Given the description of an element on the screen output the (x, y) to click on. 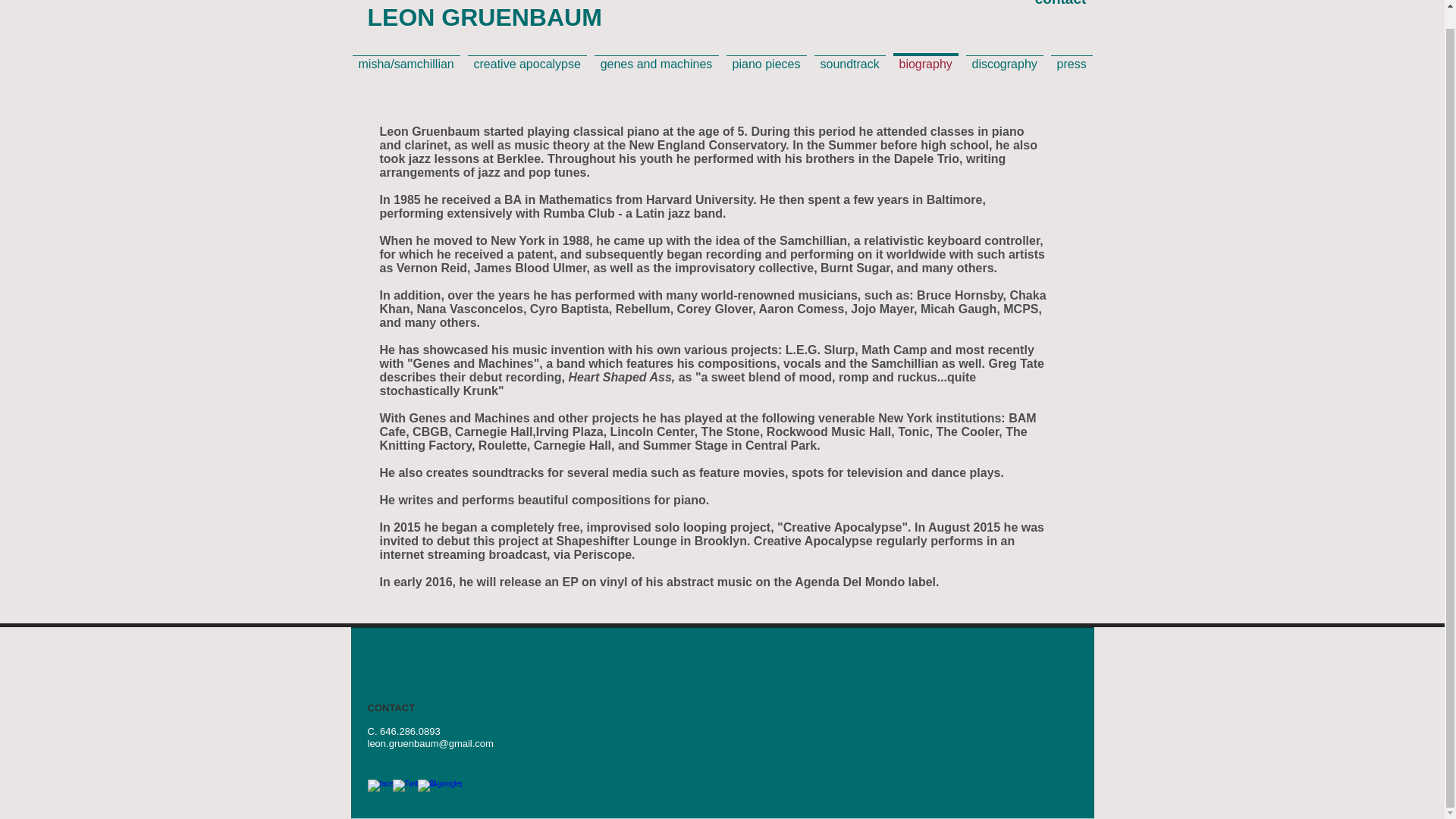
LEON GRUENBAUM (483, 17)
genes and machines (655, 56)
biography (924, 54)
soundtrack (848, 56)
creative apocalypse (527, 56)
discography (1003, 56)
piano pieces (765, 56)
press (1071, 56)
contact (1059, 6)
